Given the description of an element on the screen output the (x, y) to click on. 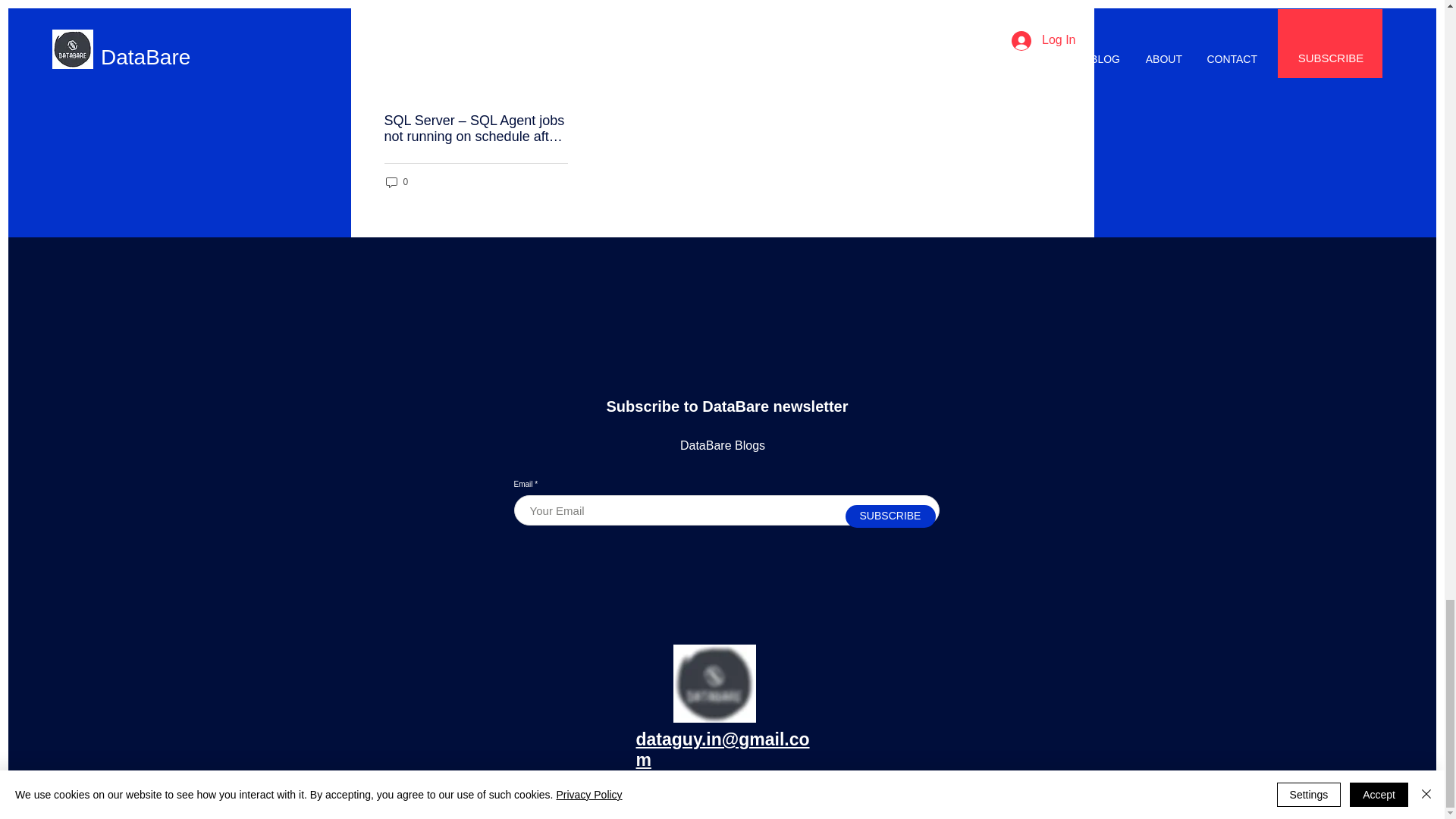
databare.JPG (713, 683)
Embedded Content (721, 326)
SUBSCRIBE (889, 516)
0 (396, 182)
